Given the description of an element on the screen output the (x, y) to click on. 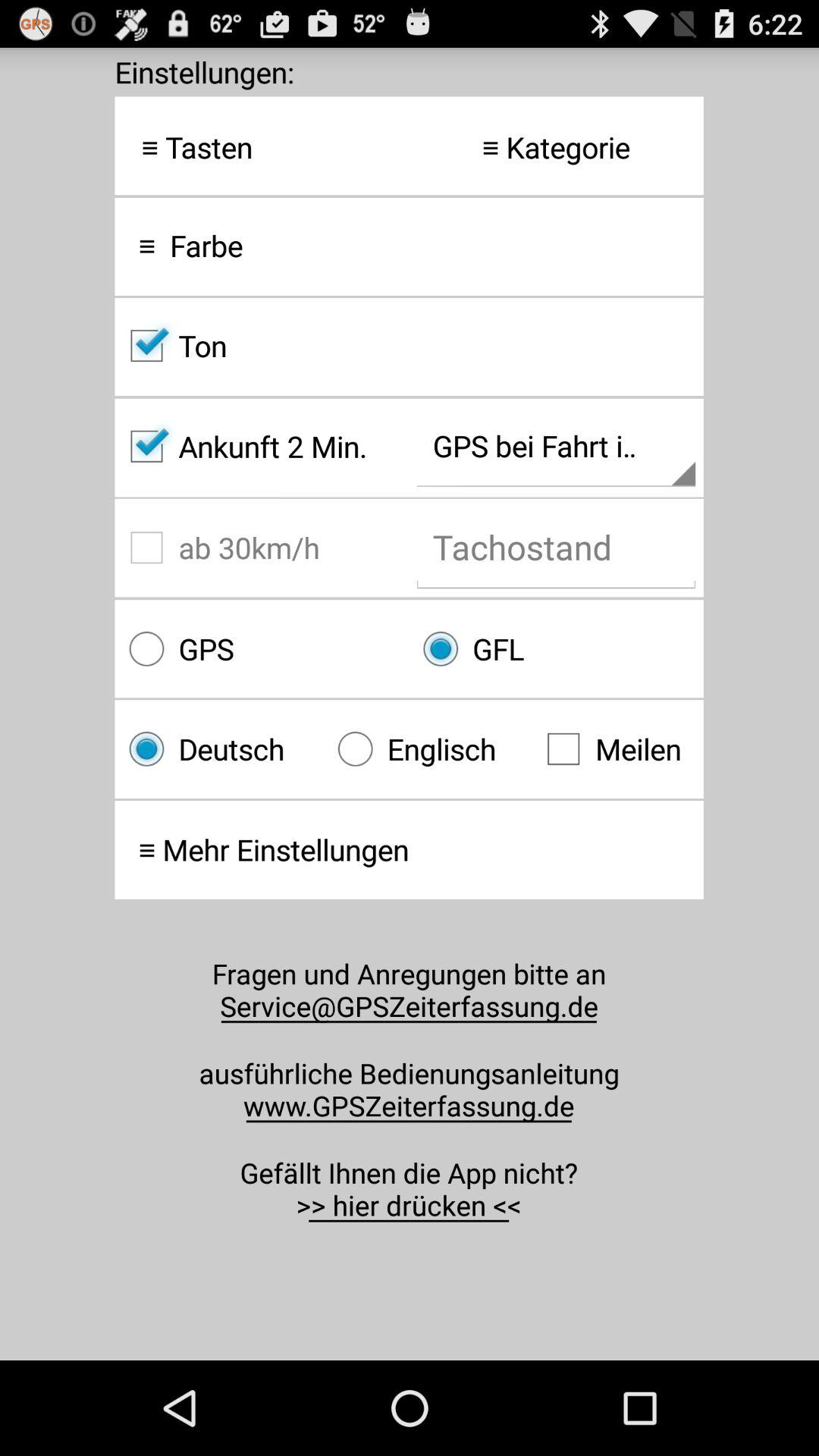
flip to the gfl item (555, 648)
